Given the description of an element on the screen output the (x, y) to click on. 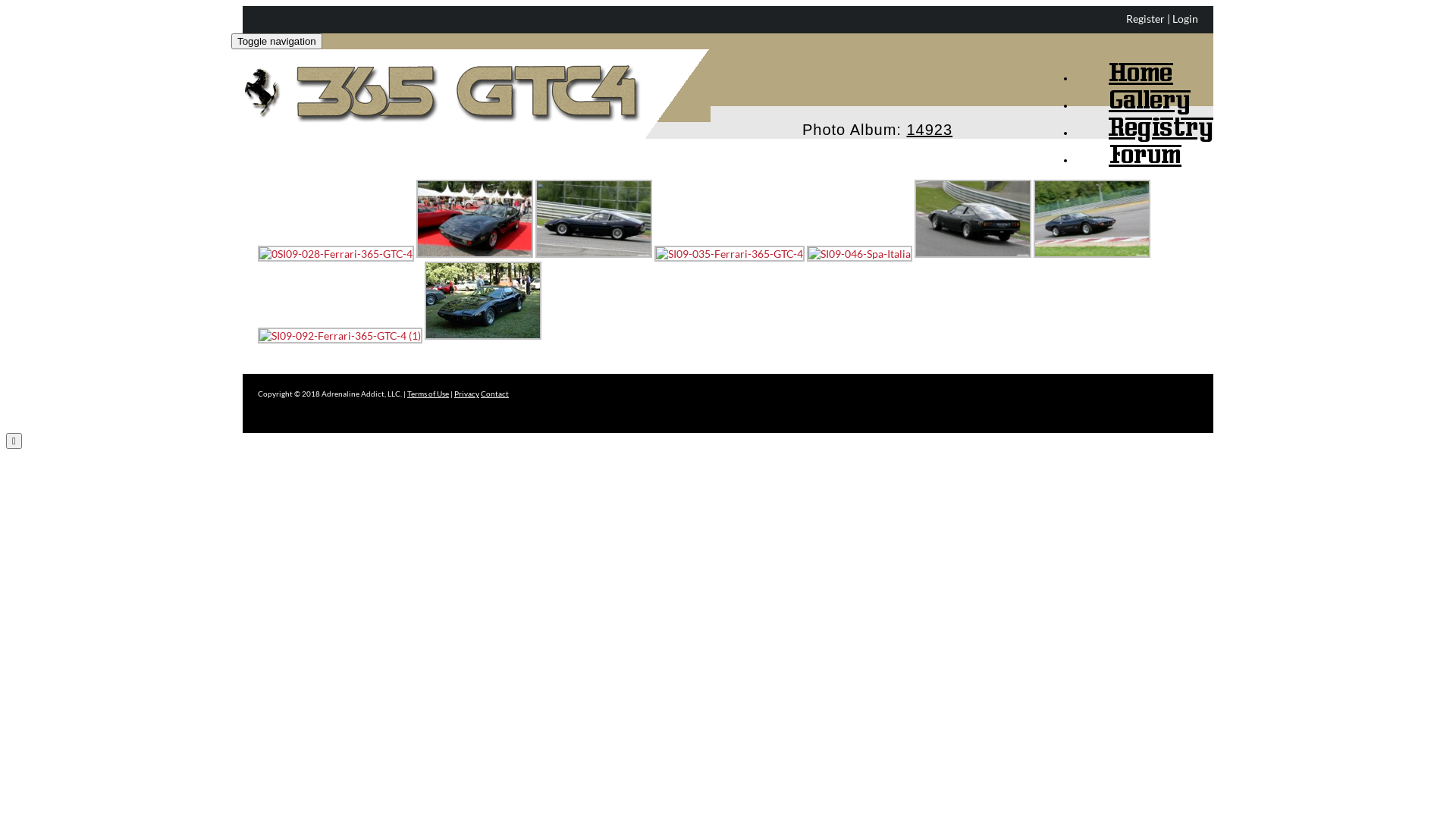
Registry Element type: text (1143, 114)
SI09-035-Ferrari-365-GTC-4 (click to enlarge) Element type: hover (729, 253)
Login Element type: text (1185, 18)
SI09-028-Ferrari-365-GTC-4 (click to enlarge) Element type: hover (593, 218)
SI09-091-Ferrari-365-GTC-4 (click to enlarge) Element type: hover (1091, 218)
SI09-092-Ferrari-365-GTC-4 (1) (click to enlarge) Element type: hover (339, 335)
Toggle navigation Element type: text (276, 41)
SI09-021-Ferrari-365-GTC-4 (click to enlarge) Element type: hover (474, 218)
Gallery Element type: text (1132, 87)
Home Element type: text (1123, 60)
14923 Element type: text (929, 122)
Forum Element type: text (1127, 142)
0SI09-028-Ferrari-365-GTC-4 (click to enlarge) Element type: hover (335, 253)
SI09-090-Ferrari-365-GTC-4 (click to enlarge) Element type: hover (972, 218)
SI09-046-Spa-Italia (click to enlarge) Element type: hover (859, 253)
Terms of Use Element type: text (427, 393)
Register Element type: text (1145, 18)
Contact Element type: text (494, 393)
x14923 365 GTC4 Het Loo aug08 001 (click to enlarge) Element type: hover (482, 300)
Privacy Element type: text (466, 393)
